Given the description of an element on the screen output the (x, y) to click on. 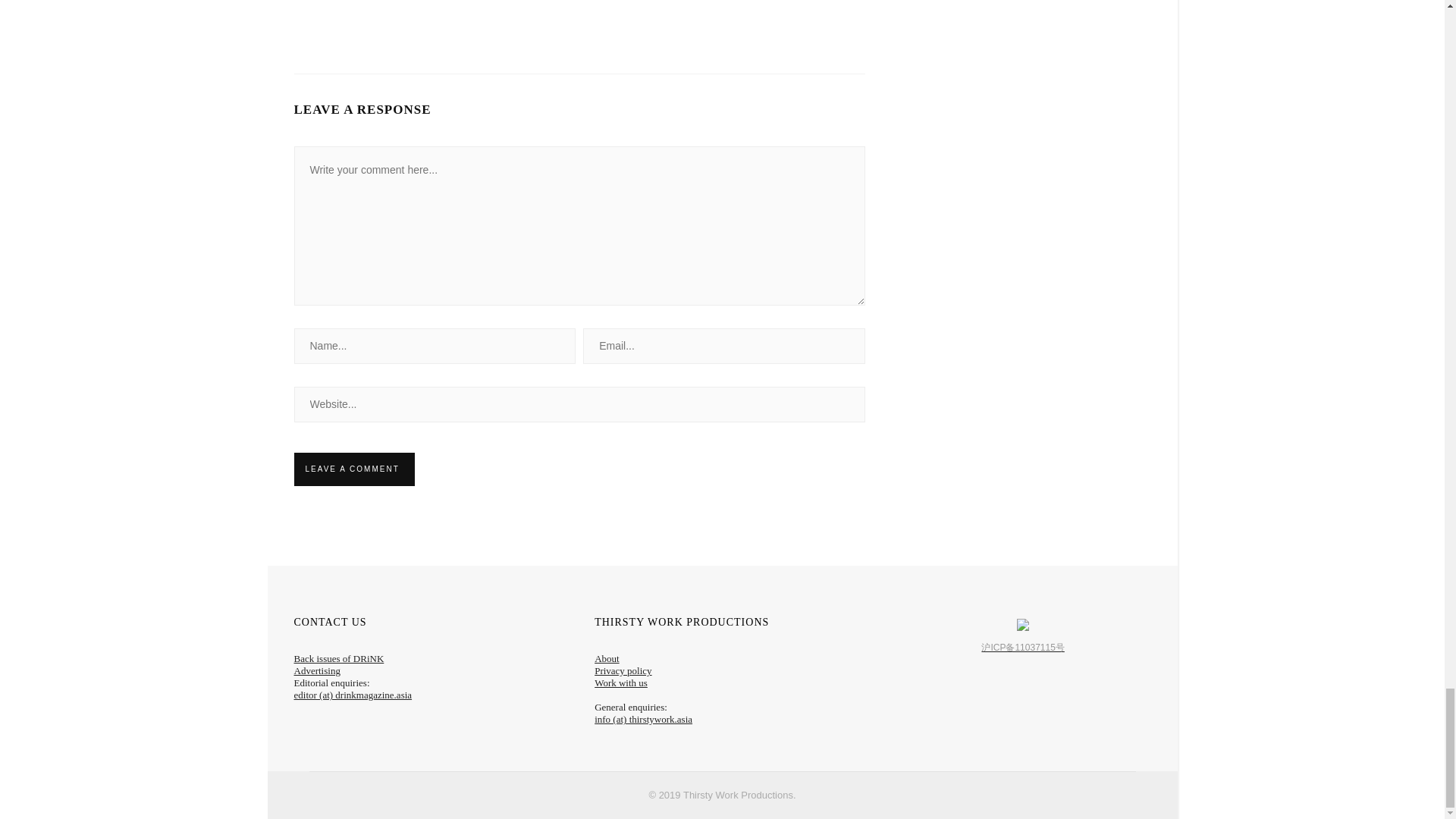
Leave a comment (351, 469)
